Given the description of an element on the screen output the (x, y) to click on. 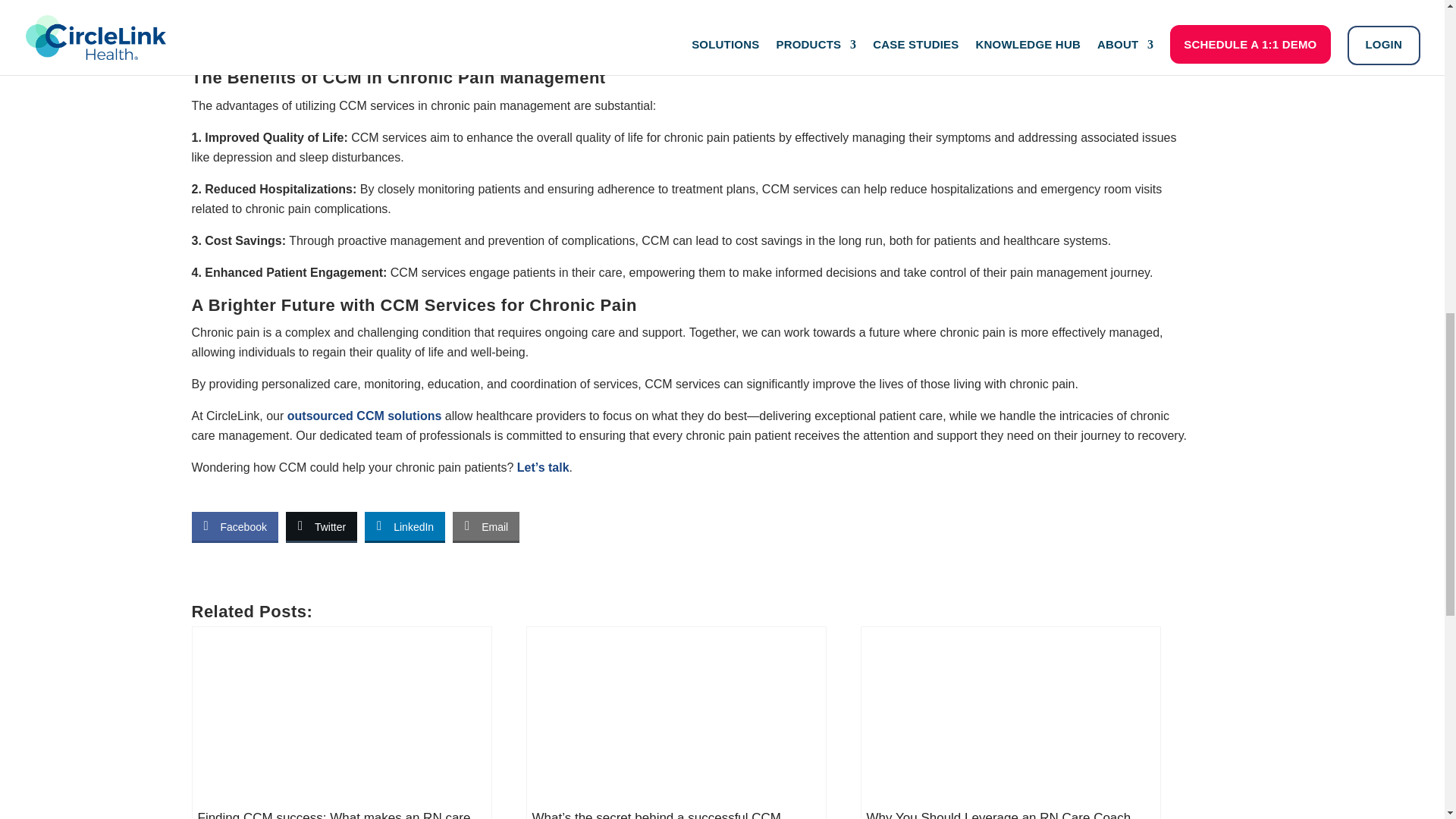
Email (485, 525)
outsourced CCM solutions (364, 415)
Why You Should Leverage an RN Care Coach Model for CCM (1010, 722)
Why You Should Leverage an RN Care Coach Model for CCM (1010, 722)
Facebook (234, 525)
Twitter (320, 525)
LinkedIn (405, 525)
